Given the description of an element on the screen output the (x, y) to click on. 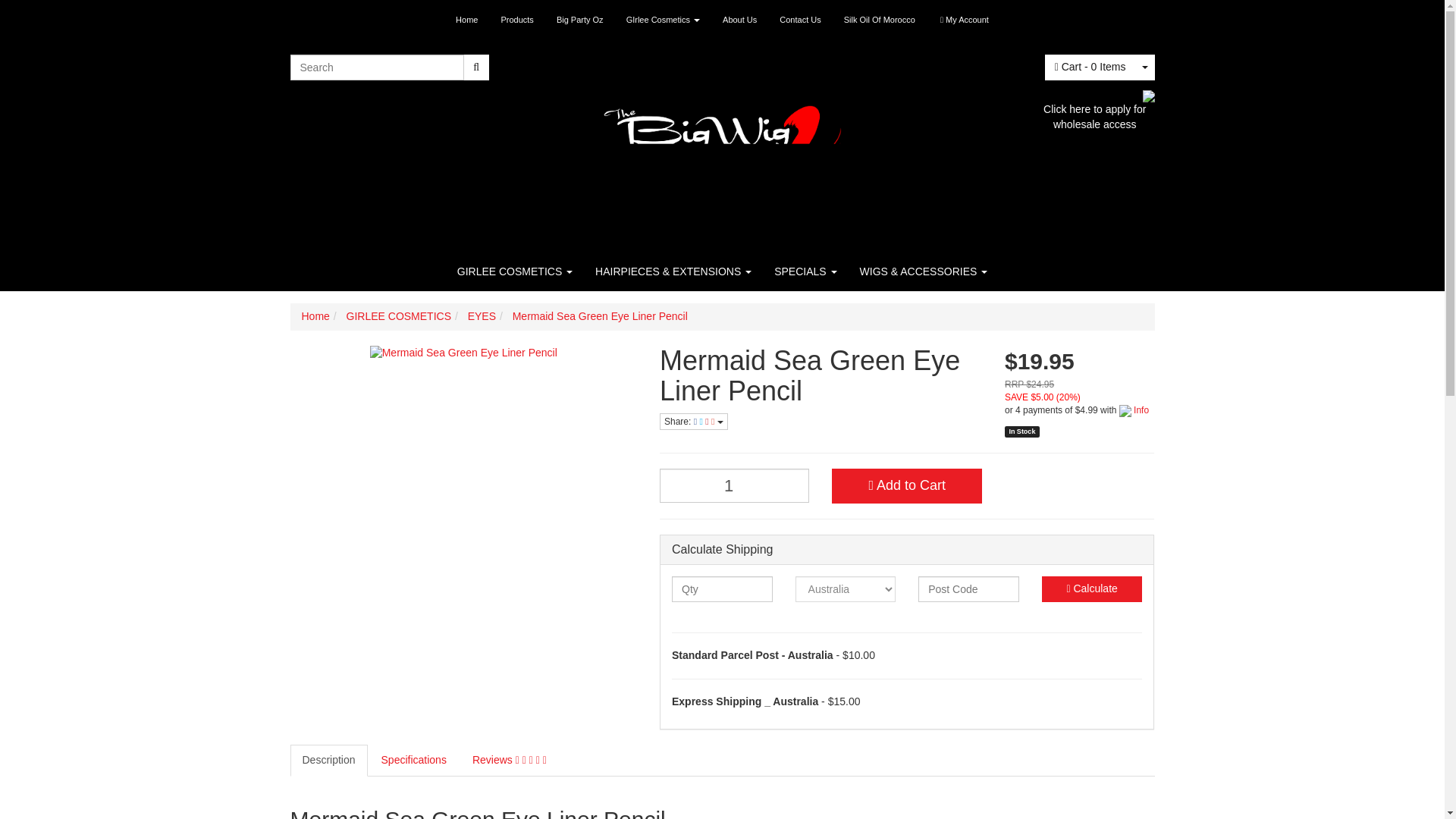
1 (734, 485)
Silk Oil Of Morocco (879, 19)
Home (466, 19)
About Us (739, 19)
GIrlee Cosmetics (662, 19)
Calculate (1092, 588)
My Account (964, 19)
Big Wig Australia (721, 137)
Contact Us (799, 19)
Big Party Oz (579, 19)
Products (516, 19)
Add to Cart (906, 485)
